Given the description of an element on the screen output the (x, y) to click on. 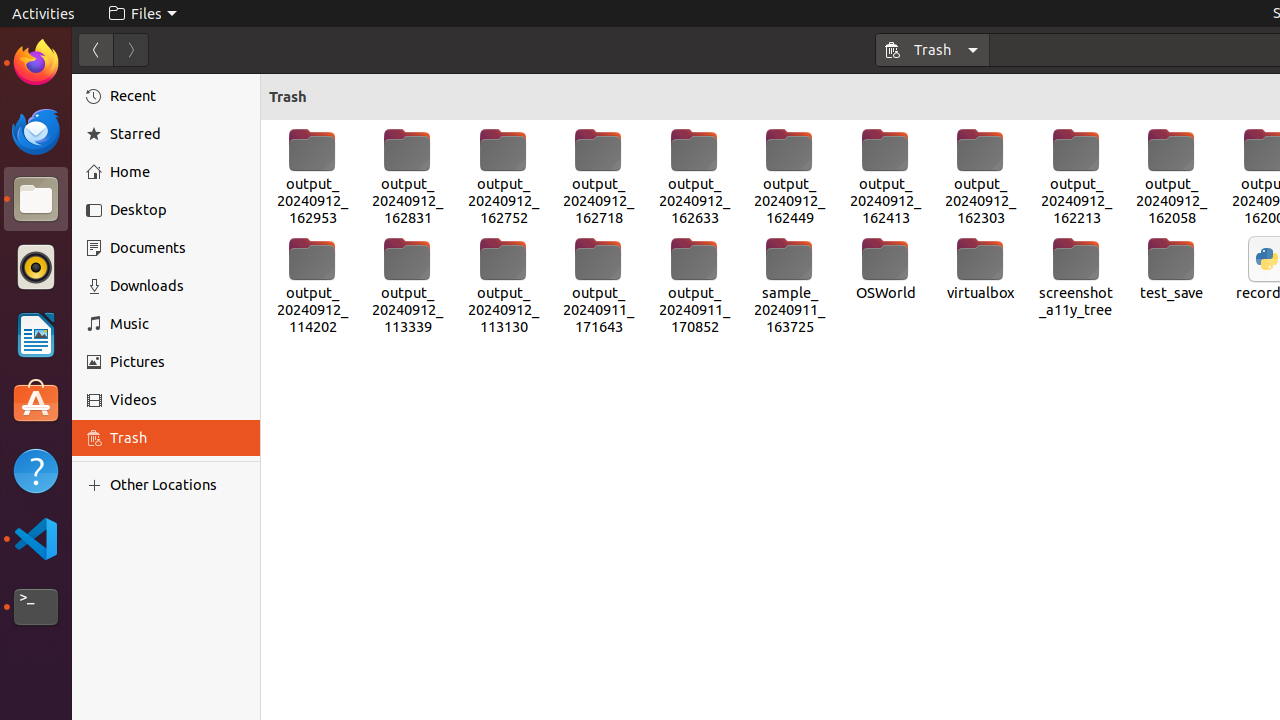
output_20240912_162413 Element type: canvas (885, 177)
Downloads Element type: label (178, 286)
Trash Element type: label (133, 191)
OSWorld Element type: canvas (885, 269)
IsaHelpMain.desktop Element type: label (133, 300)
